Given the description of an element on the screen output the (x, y) to click on. 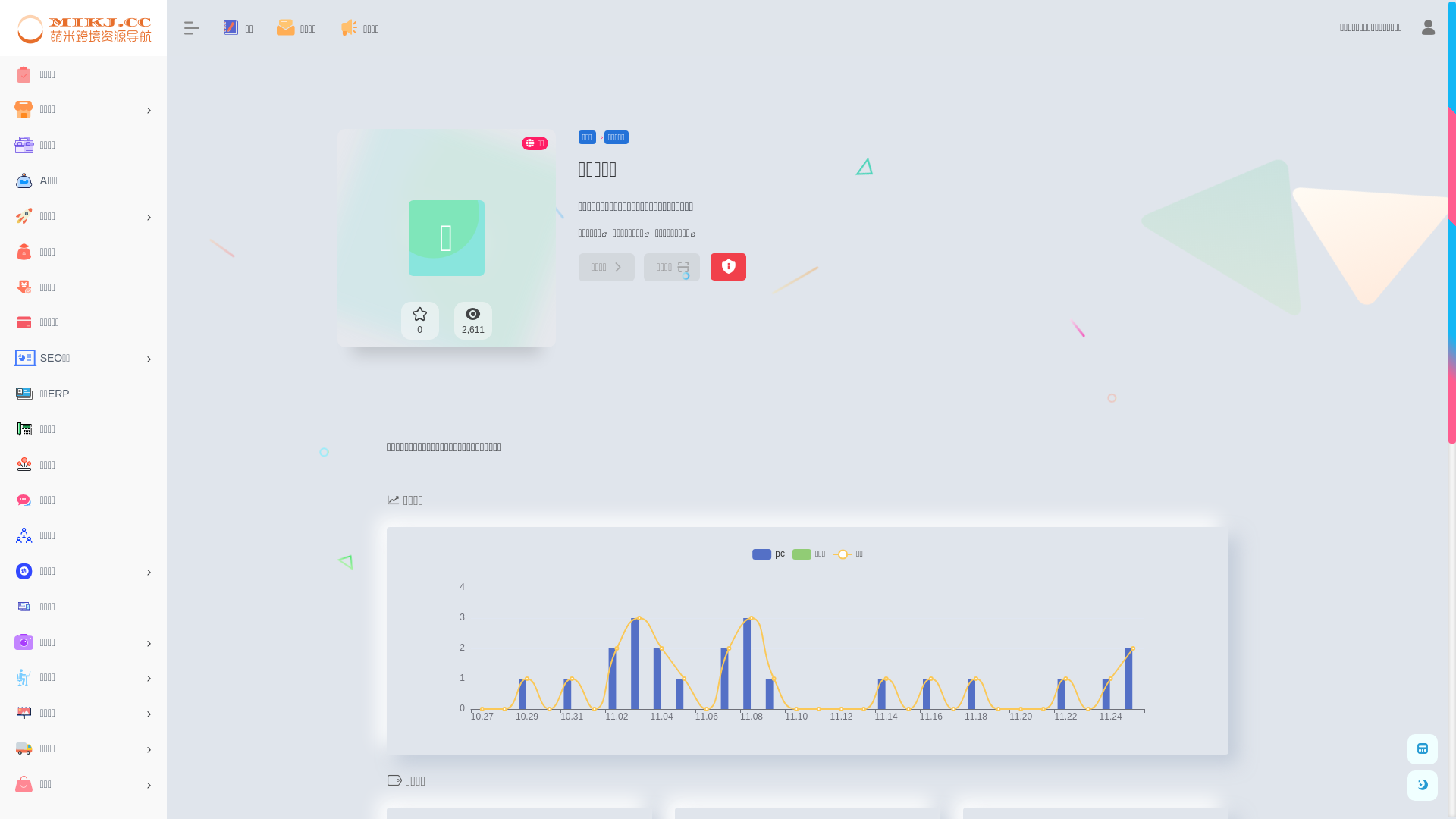
2,611 Element type: text (473, 320)
0 Element type: text (420, 320)
